Given the description of an element on the screen output the (x, y) to click on. 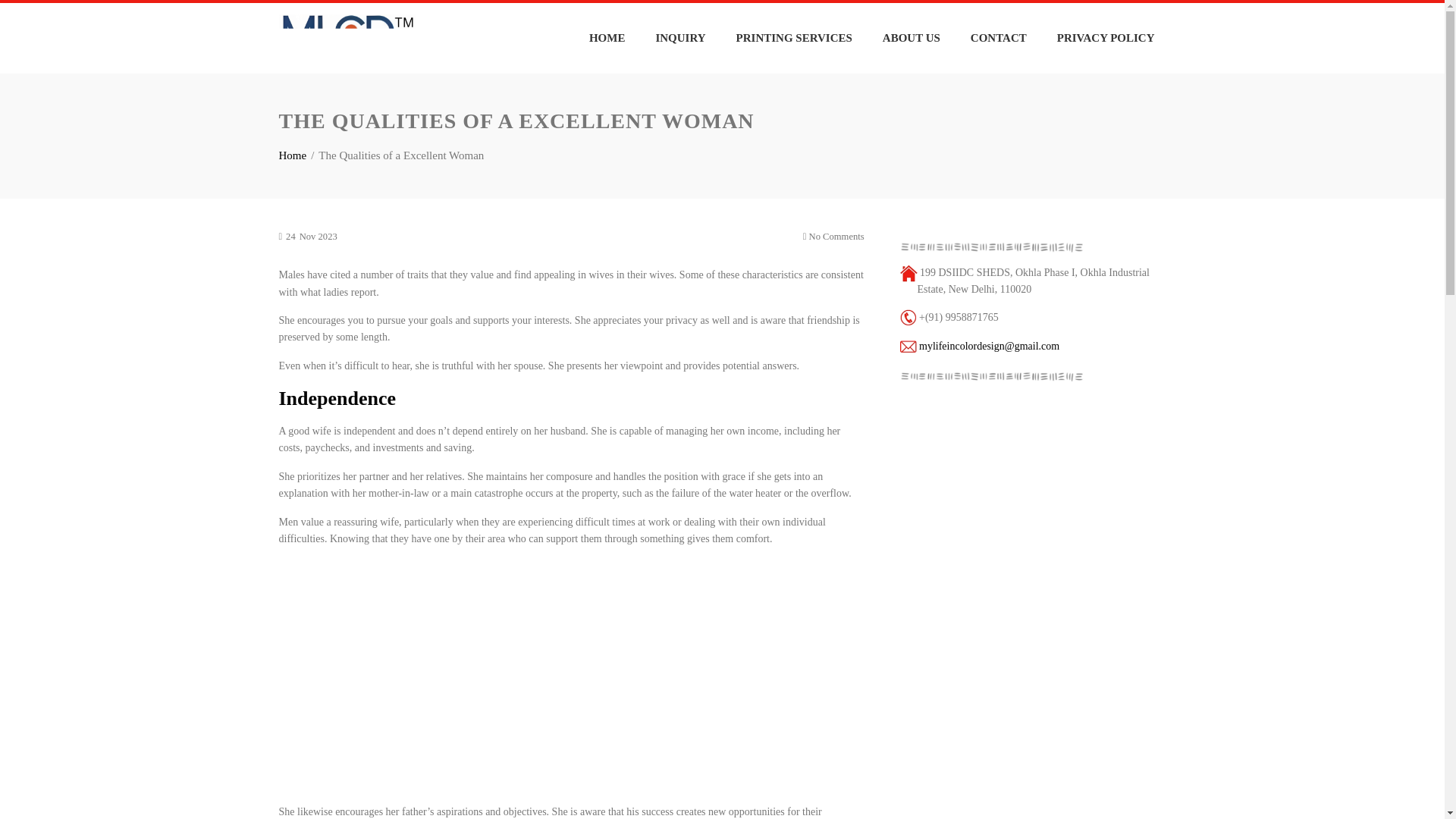
ABOUT US (911, 38)
PRINTING SERVICES (794, 38)
PRIVACY POLICY (1105, 38)
CONTACT (998, 38)
INQUIRY (679, 38)
HOME (607, 38)
No Comments (833, 236)
Home (293, 155)
